Given the description of an element on the screen output the (x, y) to click on. 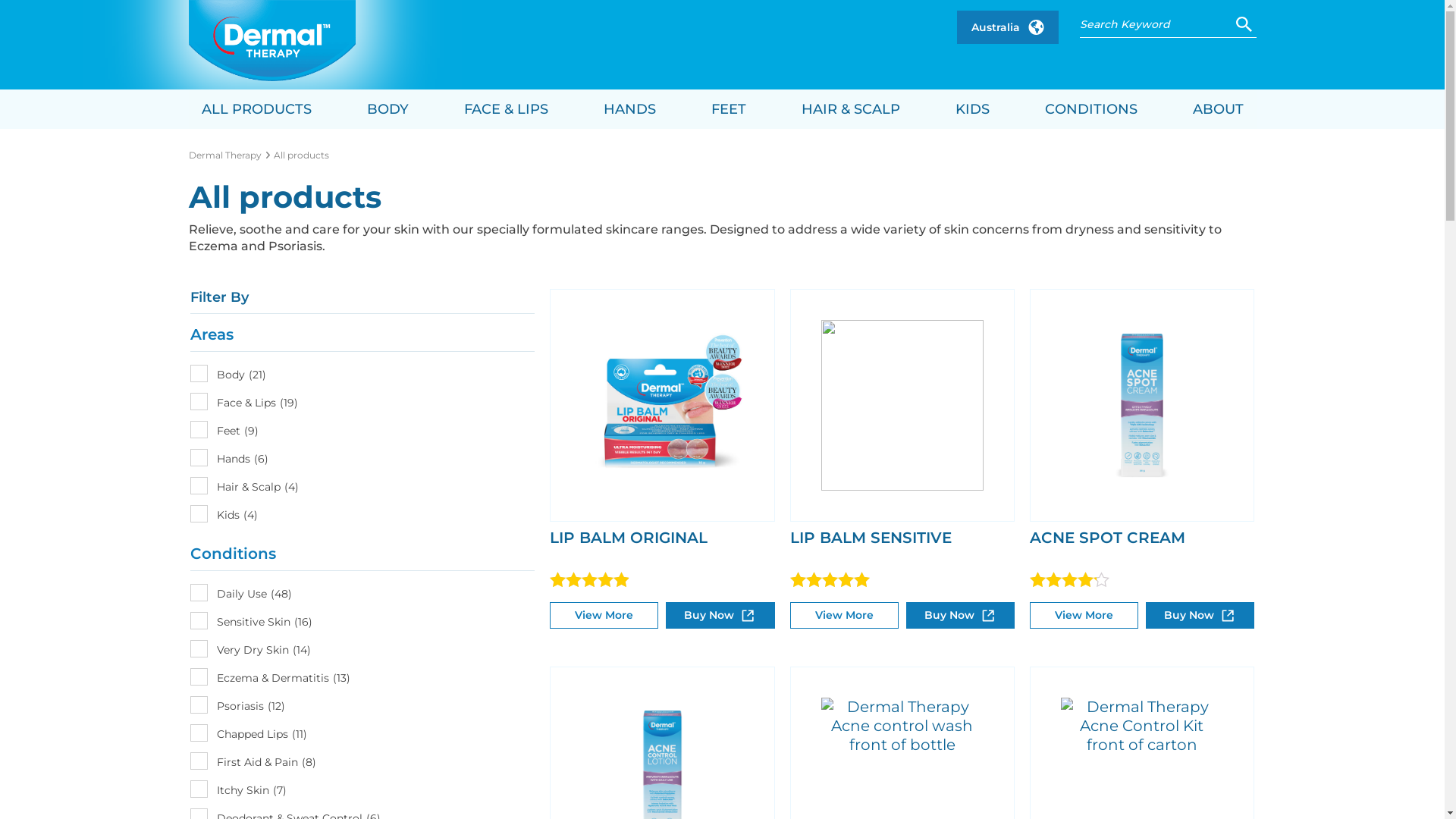
FEET Element type: text (728, 109)
ALL PRODUCTS Element type: text (256, 109)
ACNE SPOT CREAM Element type: text (1107, 537)
CONDITIONS Element type: text (1090, 109)
Search Element type: text (1243, 22)
LIP BALM ORIGINAL Element type: text (628, 537)
LIP BALM SENSITIVE Element type: text (870, 537)
Australia Element type: text (1007, 26)
View More Element type: text (1083, 615)
HAIR & SCALP Element type: text (849, 109)
HANDS Element type: text (629, 109)
FACE & LIPS Element type: text (506, 109)
KIDS Element type: text (972, 109)
Skip to content Element type: text (0, 0)
View More Element type: text (603, 615)
BODY Element type: text (387, 109)
Home page - Dermal Therapy Element type: hover (271, 40)
Dermal Therapy Element type: text (225, 154)
View More Element type: text (844, 615)
ABOUT Element type: text (1217, 109)
